Given the description of an element on the screen output the (x, y) to click on. 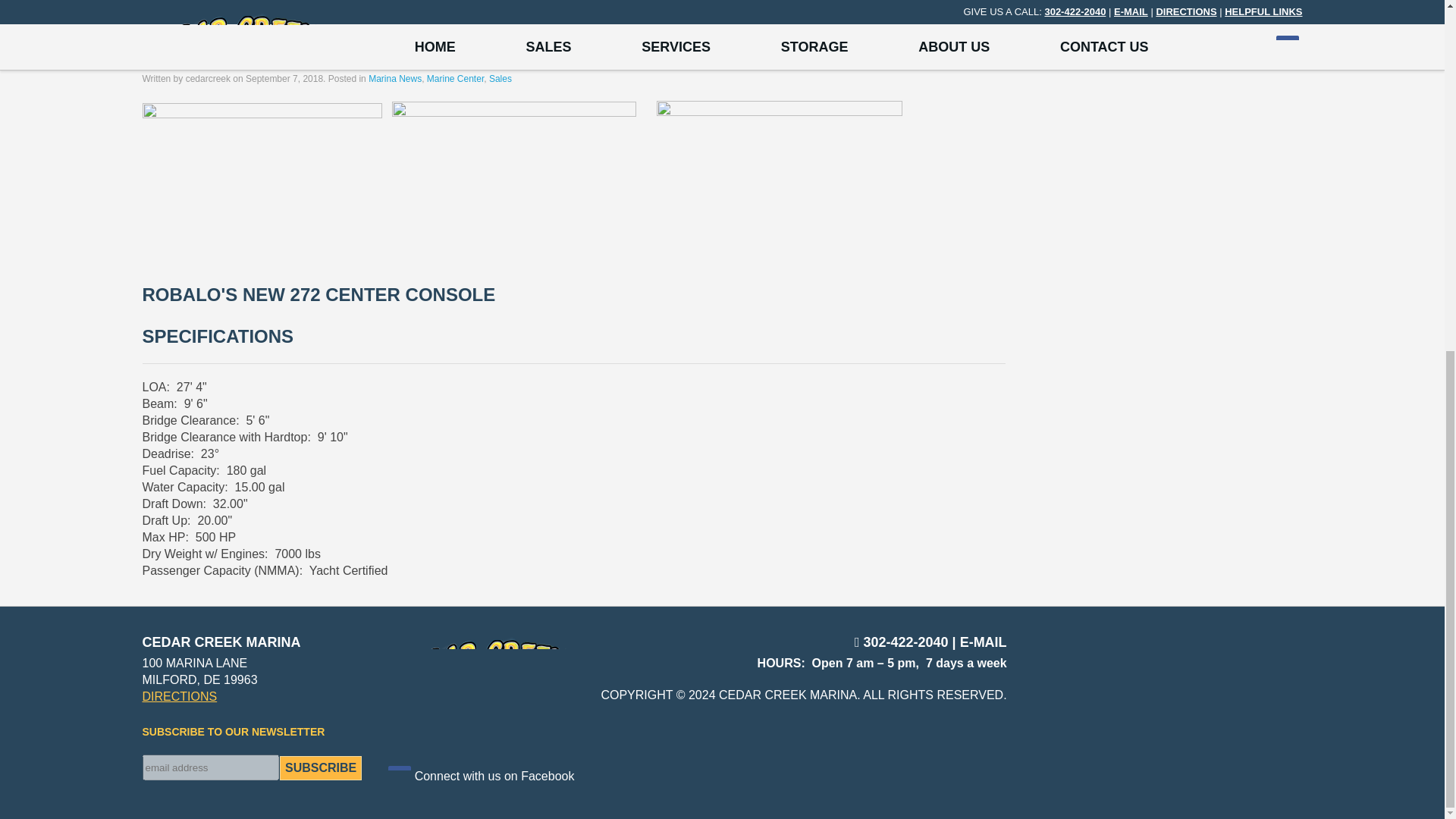
Marina News (395, 78)
Sales (500, 78)
Click Here to visit Techno Goober's website (971, 749)
Subscribe (320, 767)
Marine Center (454, 78)
